Given the description of an element on the screen output the (x, y) to click on. 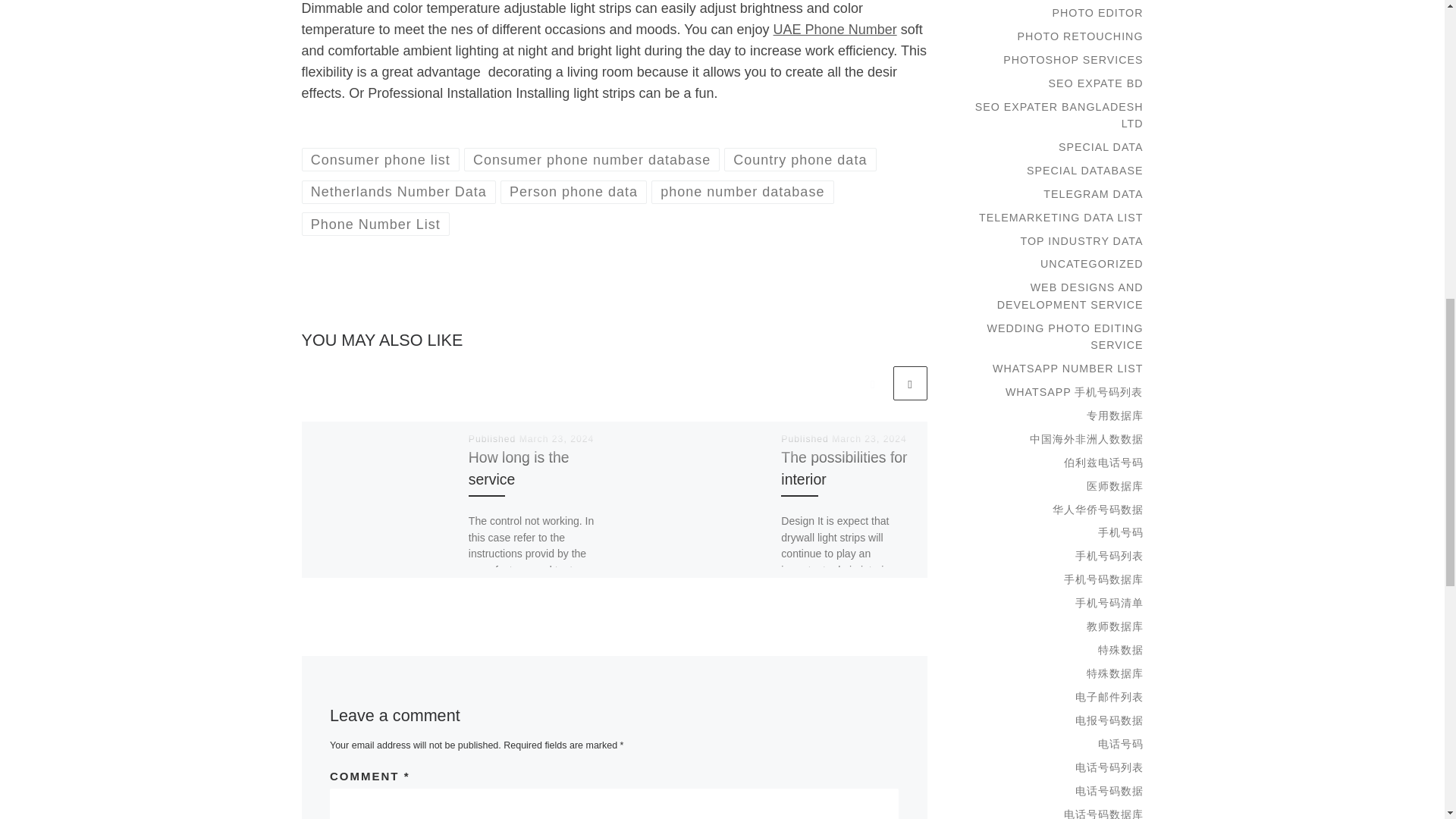
View all posts in Consumer phone number database (592, 159)
View all posts in Netherlands Number Data (398, 191)
Person phone data (573, 191)
March 23, 2024 (869, 439)
Consumer phone number database (592, 159)
Previous related articles (872, 383)
UAE Phone Number (834, 29)
phone number database (742, 191)
View all posts in phone number database (742, 191)
View all posts in Phone Number List (375, 223)
View all posts in Consumer phone list (380, 159)
Phone Number List (375, 223)
Netherlands Number Data (398, 191)
Country phone data (799, 159)
The possibilities for interior (843, 467)
